Given the description of an element on the screen output the (x, y) to click on. 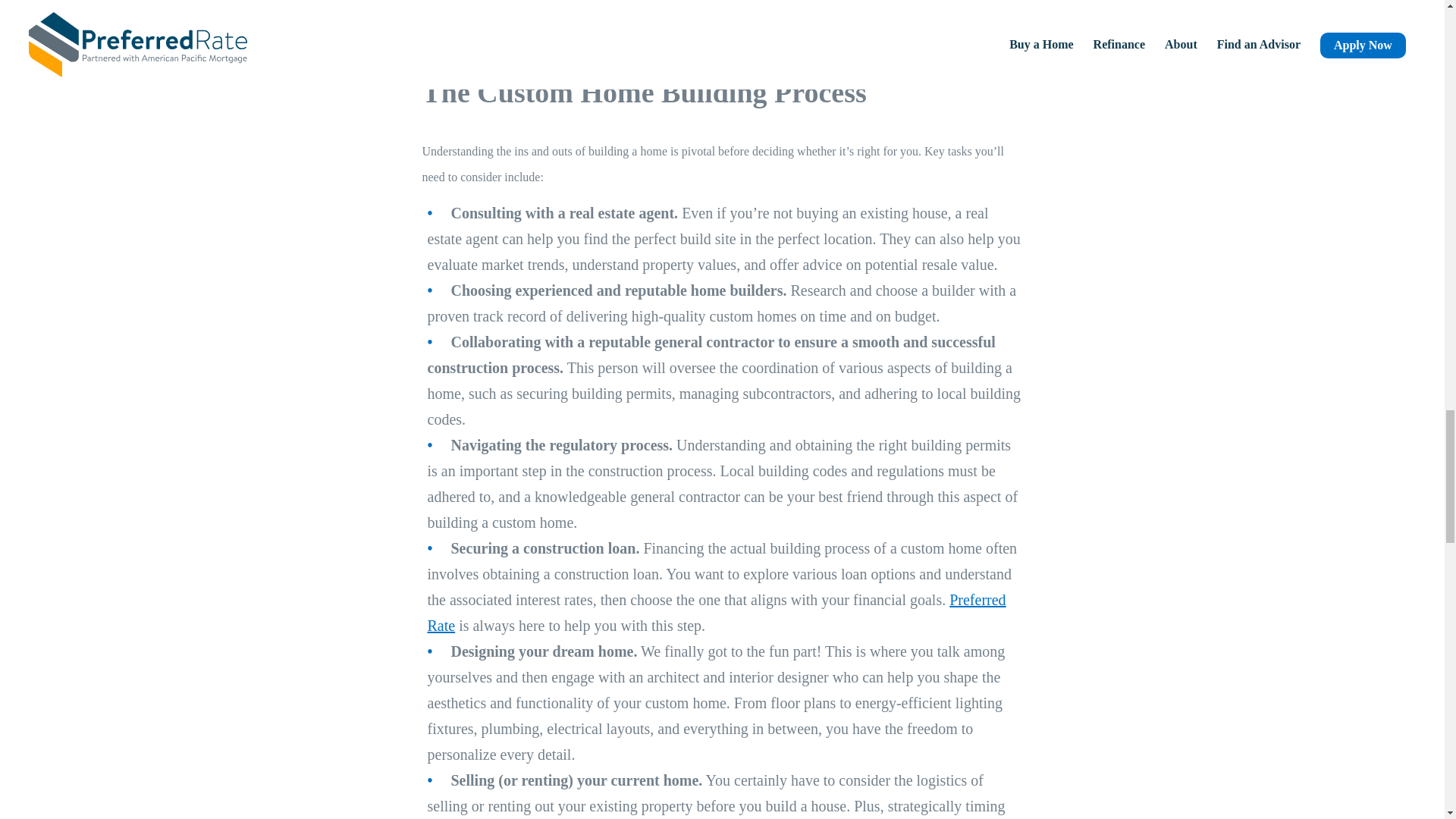
Preferred Rate (717, 612)
